Given the description of an element on the screen output the (x, y) to click on. 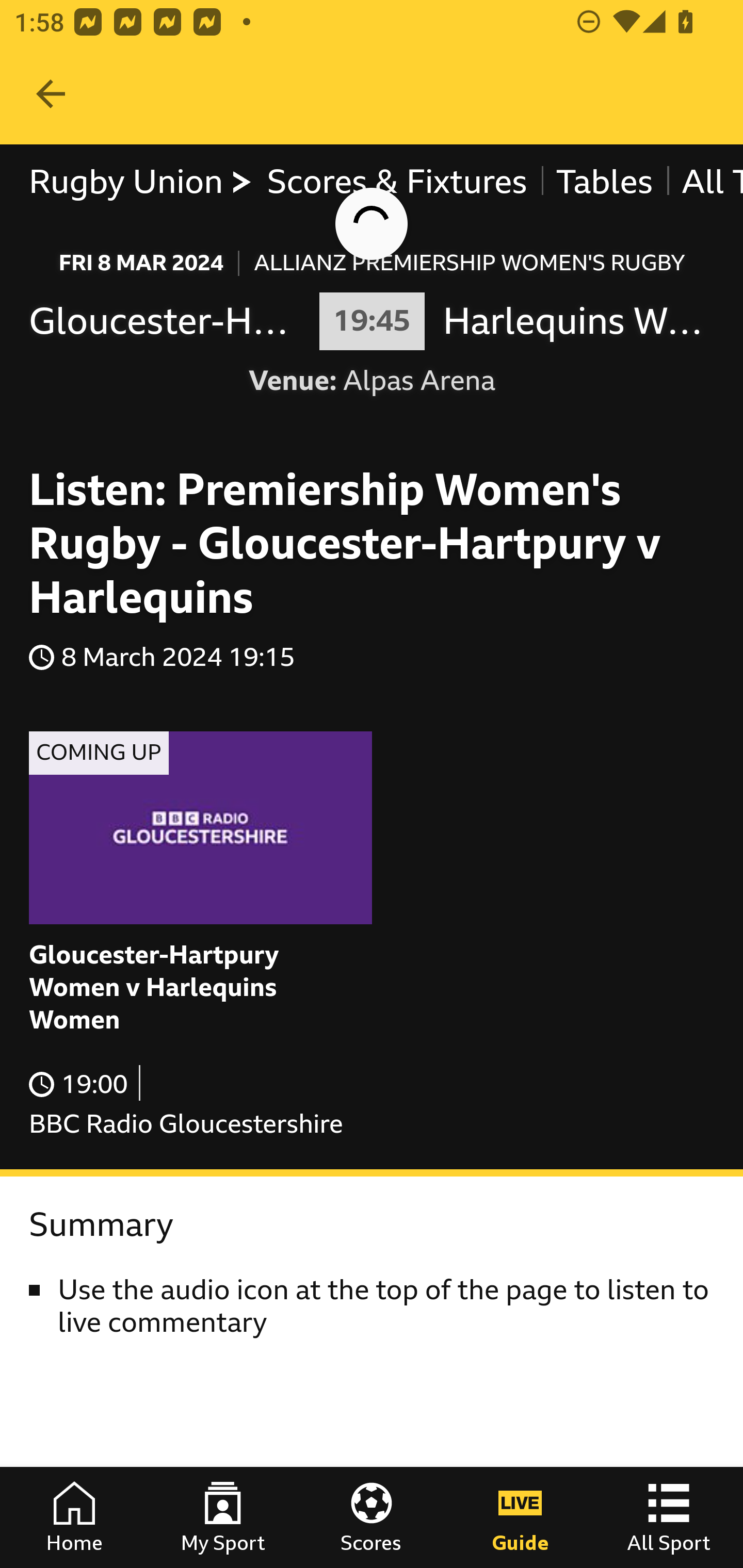
Navigate up (50, 93)
Rugby Union  (140, 181)
Scores & Fixtures (396, 181)
Tables (603, 181)
Home (74, 1517)
My Sport (222, 1517)
Scores (371, 1517)
All Sport (668, 1517)
